Given the description of an element on the screen output the (x, y) to click on. 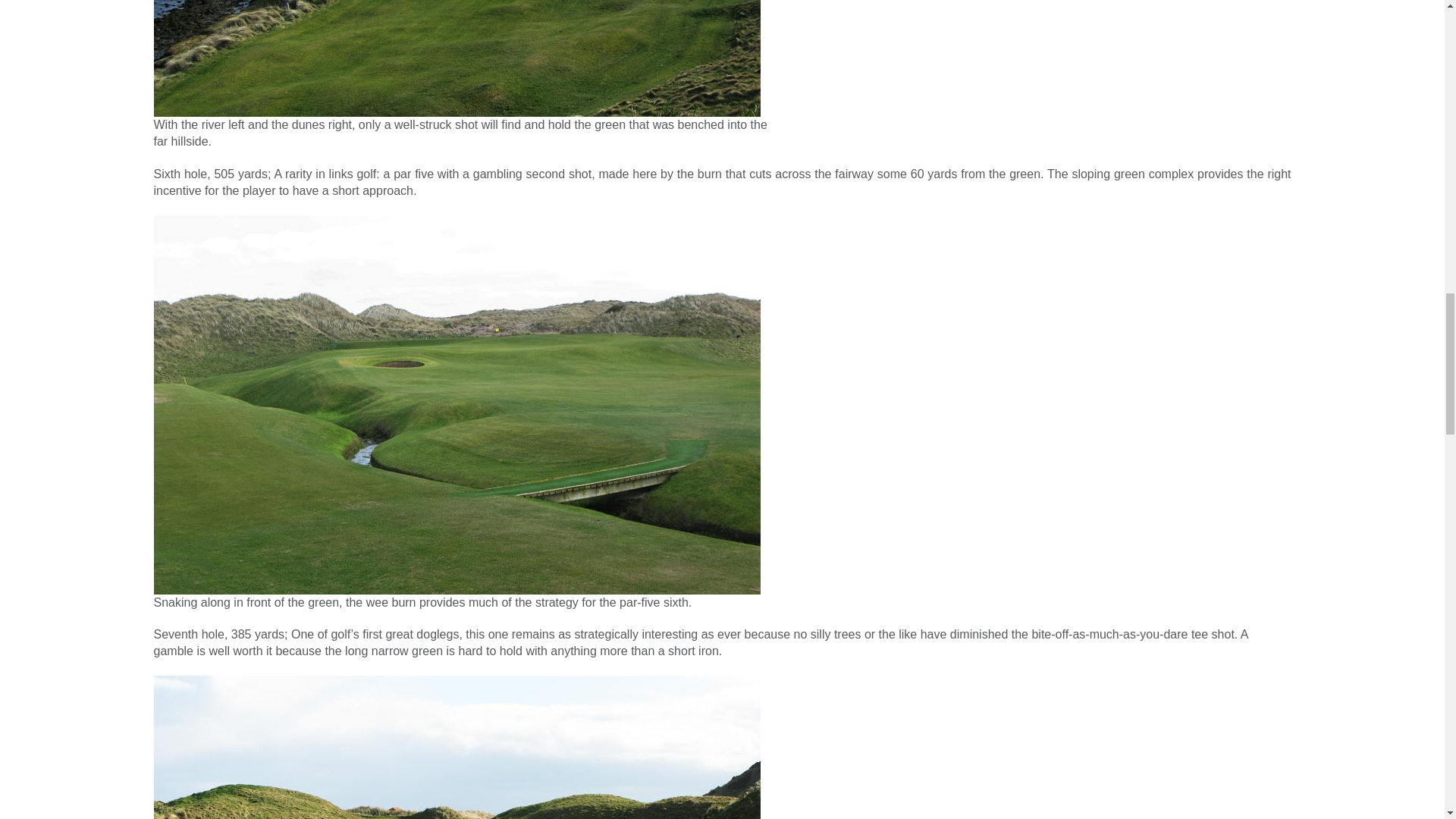
cruden4 (456, 58)
cruden7 (456, 747)
